Given the description of an element on the screen output the (x, y) to click on. 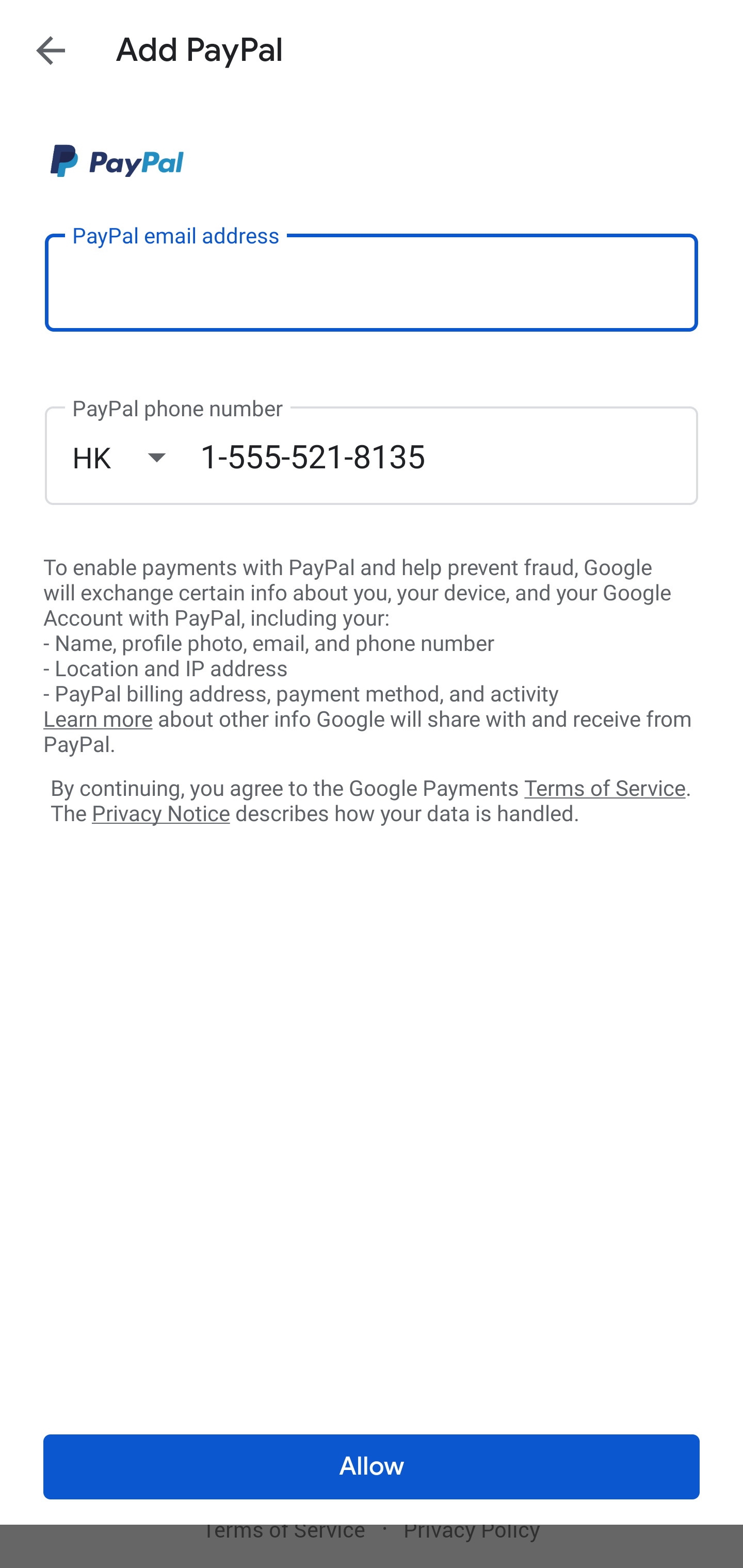
Navigate up (50, 50)
PayPal email address (371, 282)
HK (135, 456)
Learn more (97, 719)
Terms of Service (604, 787)
Privacy Notice (160, 814)
Allow (371, 1466)
